Given the description of an element on the screen output the (x, y) to click on. 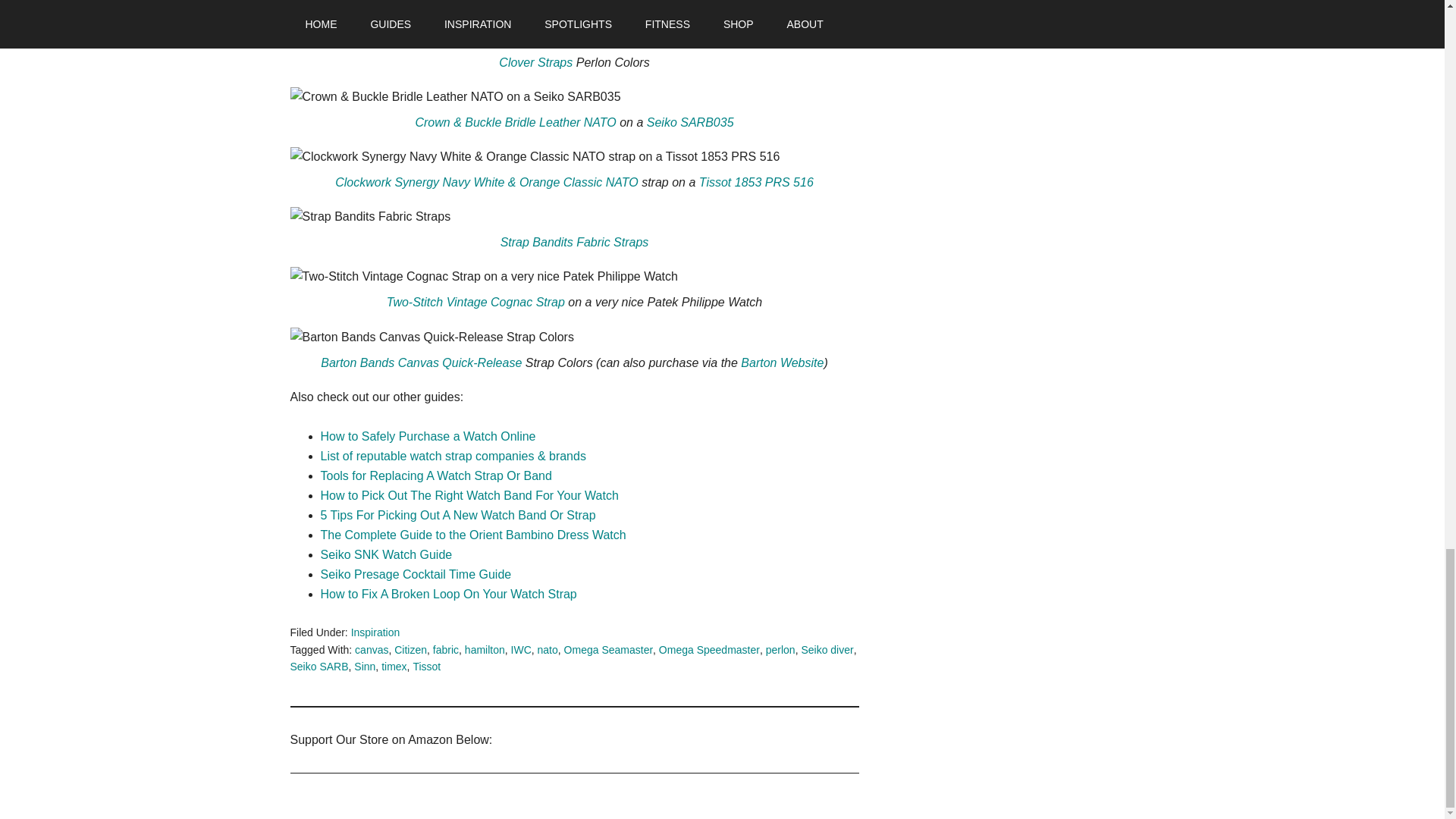
Clover Straps (535, 62)
Barton Website (782, 362)
Two-Stitch Vintage Cognac Strap (475, 301)
Barton Bands Canvas Quick-Release (420, 362)
Seiko SARB035 (689, 122)
Tissot 1853 PRS 516 (755, 182)
Strap Bandits Fabric Straps (574, 241)
